Given the description of an element on the screen output the (x, y) to click on. 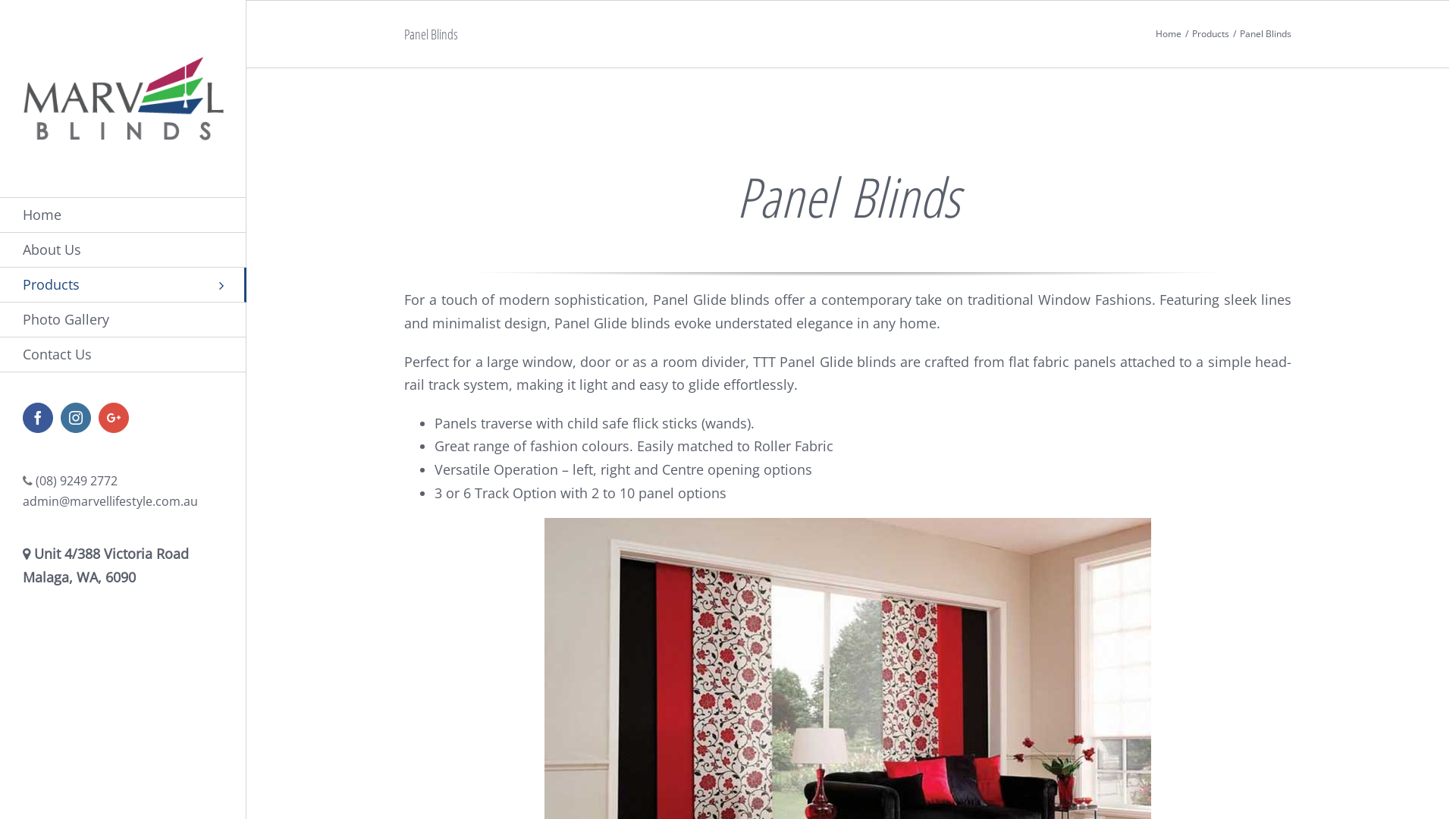
Home Element type: text (1168, 33)
Contact Us Element type: text (123, 354)
Photo Gallery Element type: text (123, 319)
Instagram Element type: text (75, 417)
admin@marvellifestyle.com.au Element type: text (109, 500)
(08) 9249 2772 Element type: text (76, 480)
Products Element type: text (1210, 33)
Google+ Element type: text (113, 417)
About Us Element type: text (123, 249)
Facebook Element type: text (37, 417)
Products Element type: text (123, 284)
Home Element type: text (123, 214)
